Given the description of an element on the screen output the (x, y) to click on. 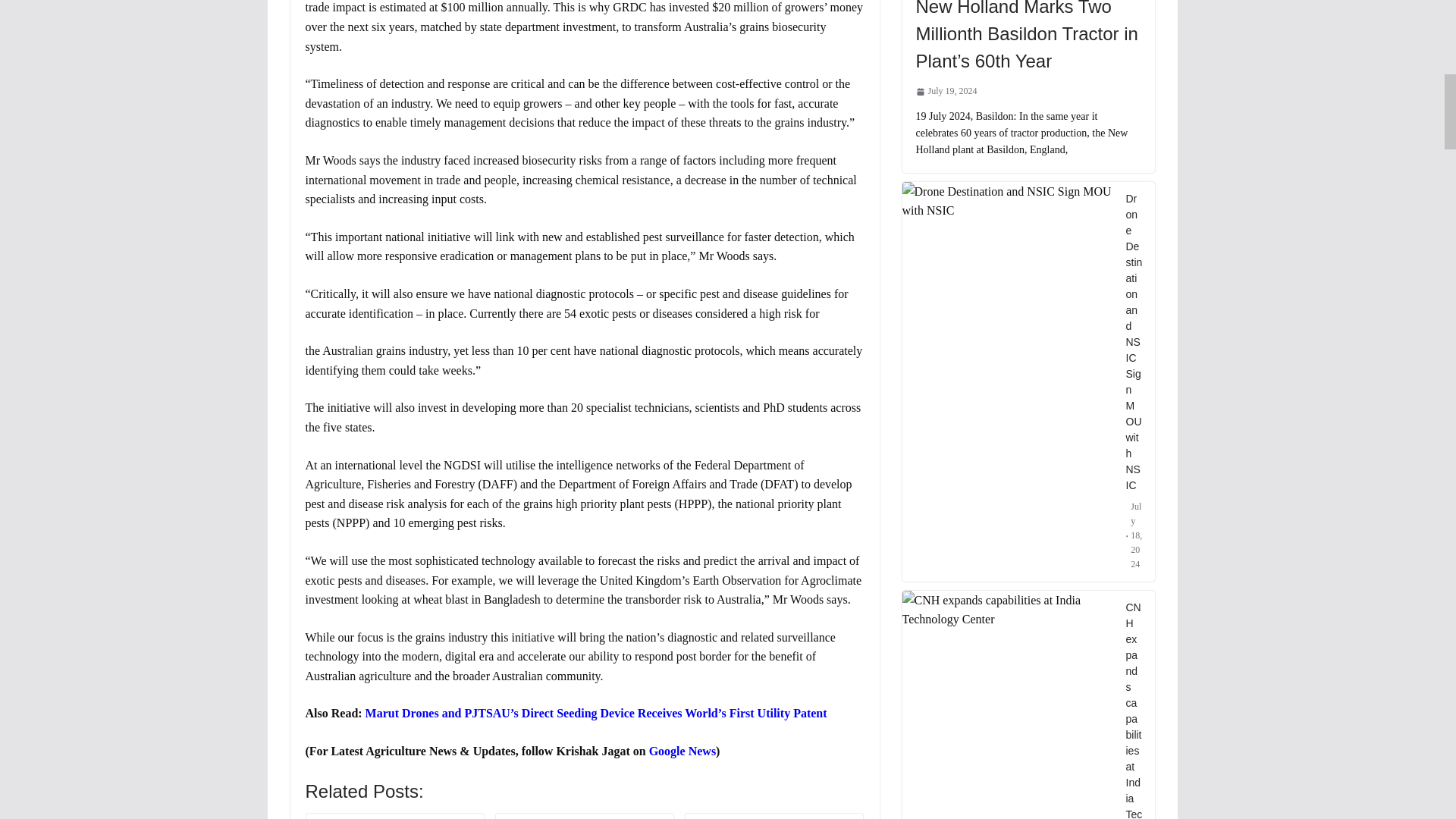
New GRDC Southern Panel to represent grain growers (584, 817)
Australia: GRDC seeks leaders for Regional Panels (394, 817)
